Given the description of an element on the screen output the (x, y) to click on. 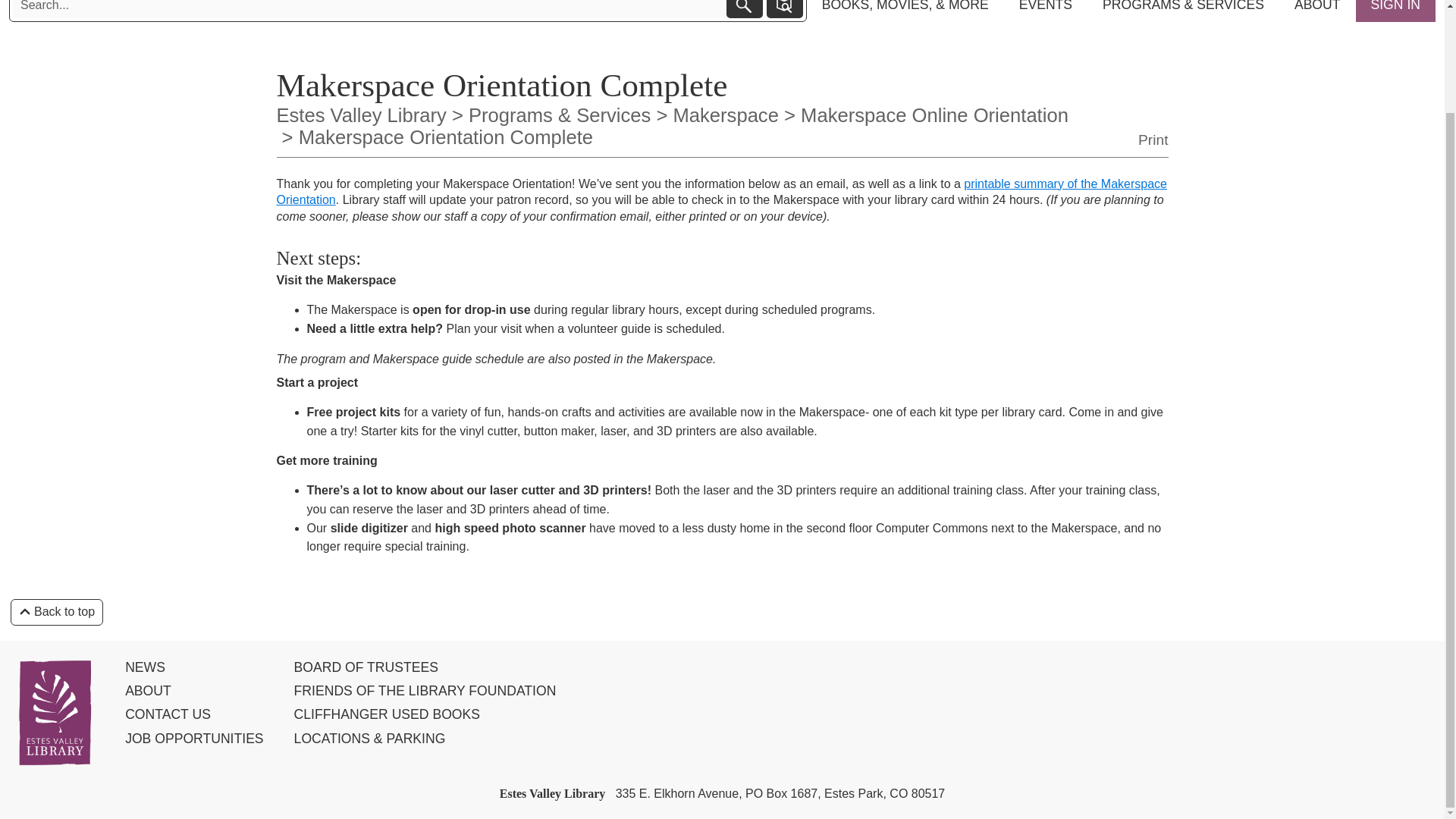
Print (1152, 139)
NEWS (188, 667)
Search all (744, 9)
ABOUT (1317, 10)
Back to top (56, 611)
CONTACT US (188, 714)
EVENTS (1045, 10)
JOB OPPORTUNITIES (188, 739)
Estes Valley Library (360, 115)
FRIENDS OF THE LIBRARY FOUNDATION (419, 690)
